Given the description of an element on the screen output the (x, y) to click on. 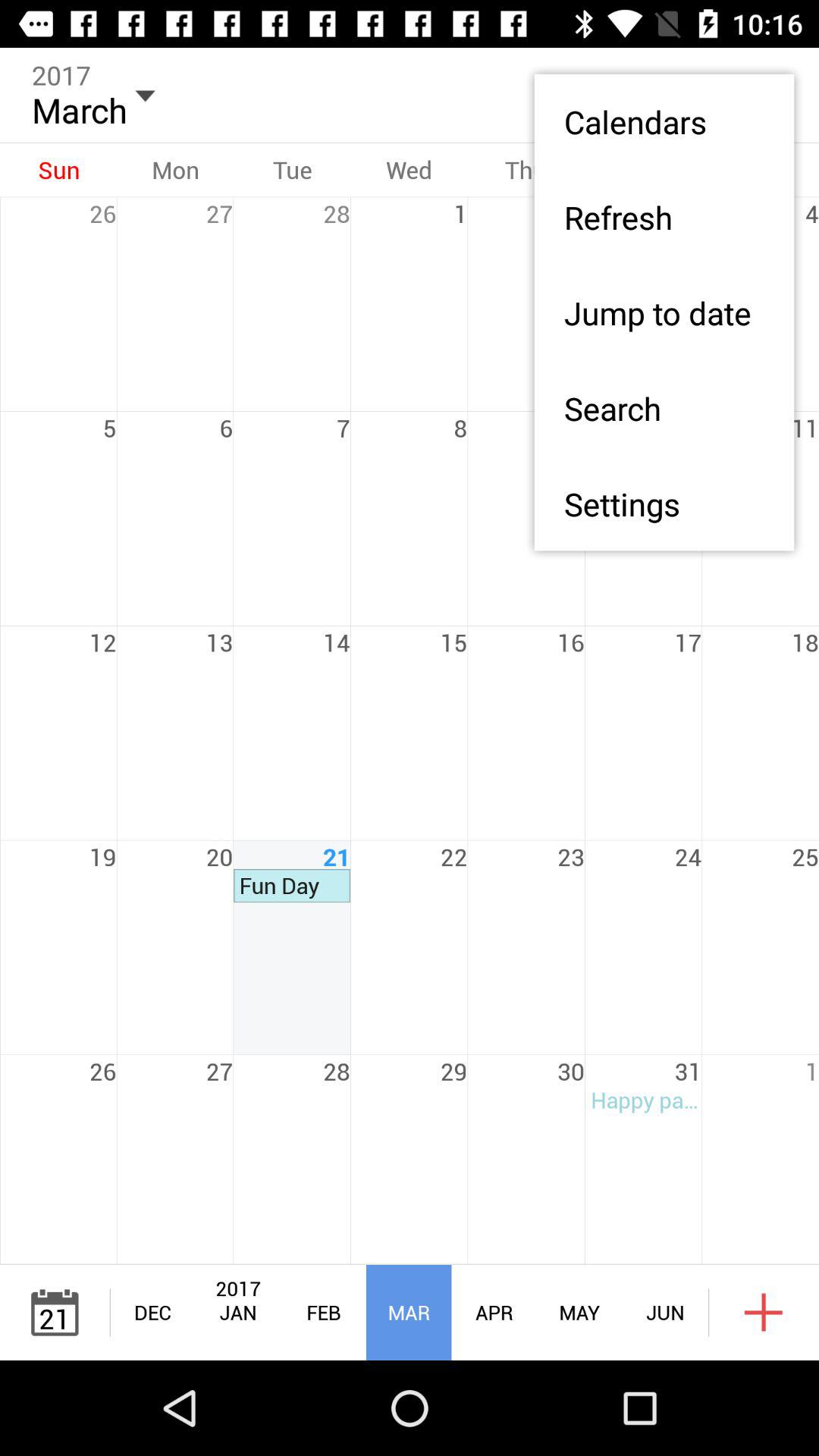
turn off item above the refresh item (664, 121)
